Given the description of an element on the screen output the (x, y) to click on. 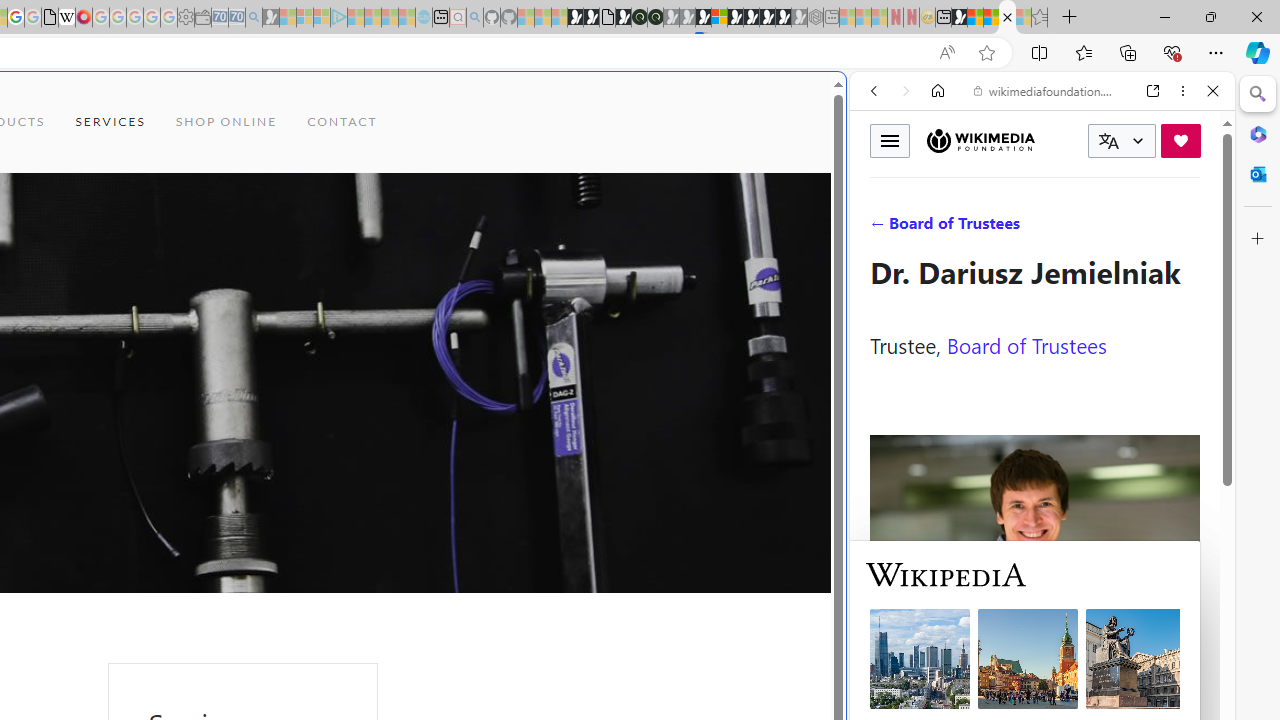
Close split screen (844, 102)
Open link in new tab (1153, 91)
Wikimedia Foundation (980, 141)
github - Search - Sleeping (474, 17)
Global web icon (888, 669)
Services - Maintenance | Sky Blue Bikes - Sky Blue Bikes (1007, 17)
WEB   (882, 228)
Favorites - Sleeping (1039, 17)
Microsoft account | Privacy - Sleeping (321, 17)
